Given the description of an element on the screen output the (x, y) to click on. 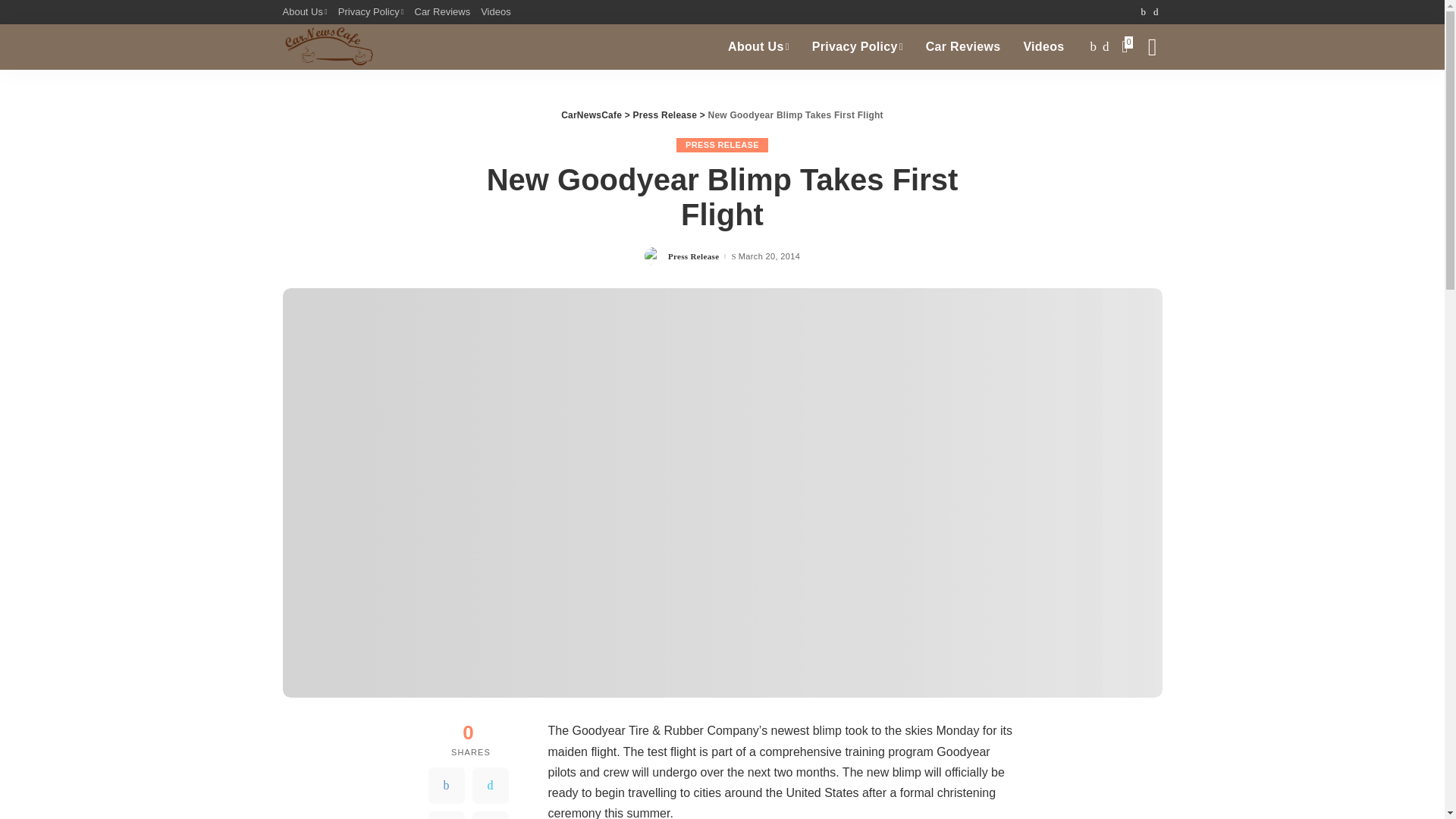
Privacy Policy (857, 46)
Search (1140, 97)
Car Reviews (962, 46)
Car Reviews (442, 12)
About Us (758, 46)
CarNewsCafe (328, 46)
About Us (306, 12)
Videos (1043, 46)
Videos (496, 12)
Privacy Policy (371, 12)
